Given the description of an element on the screen output the (x, y) to click on. 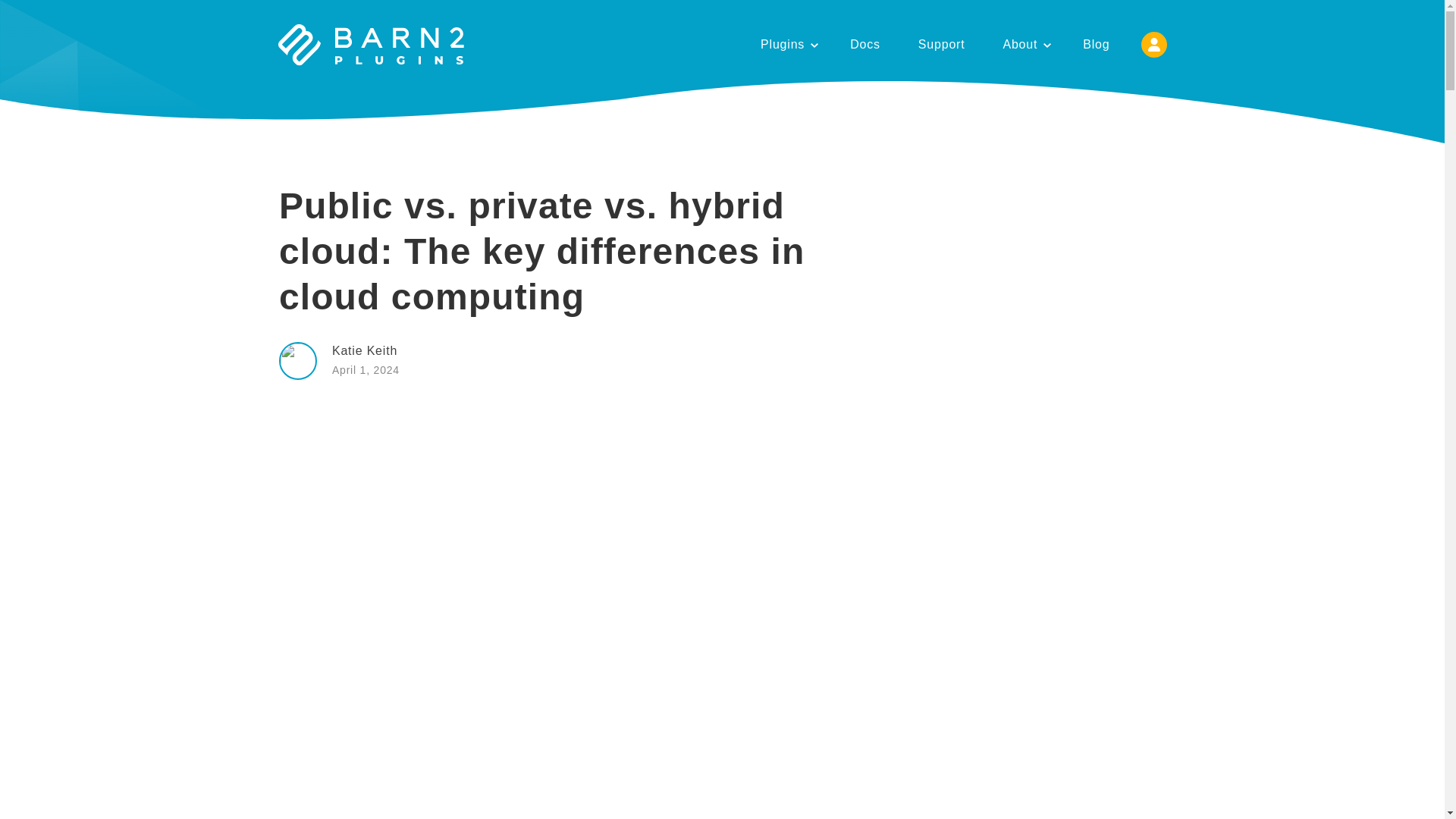
About (1023, 43)
Katie Keith (364, 350)
Docs (865, 43)
Support (941, 43)
Plugins (786, 43)
Blog (1096, 43)
My Account (1153, 44)
